Given the description of an element on the screen output the (x, y) to click on. 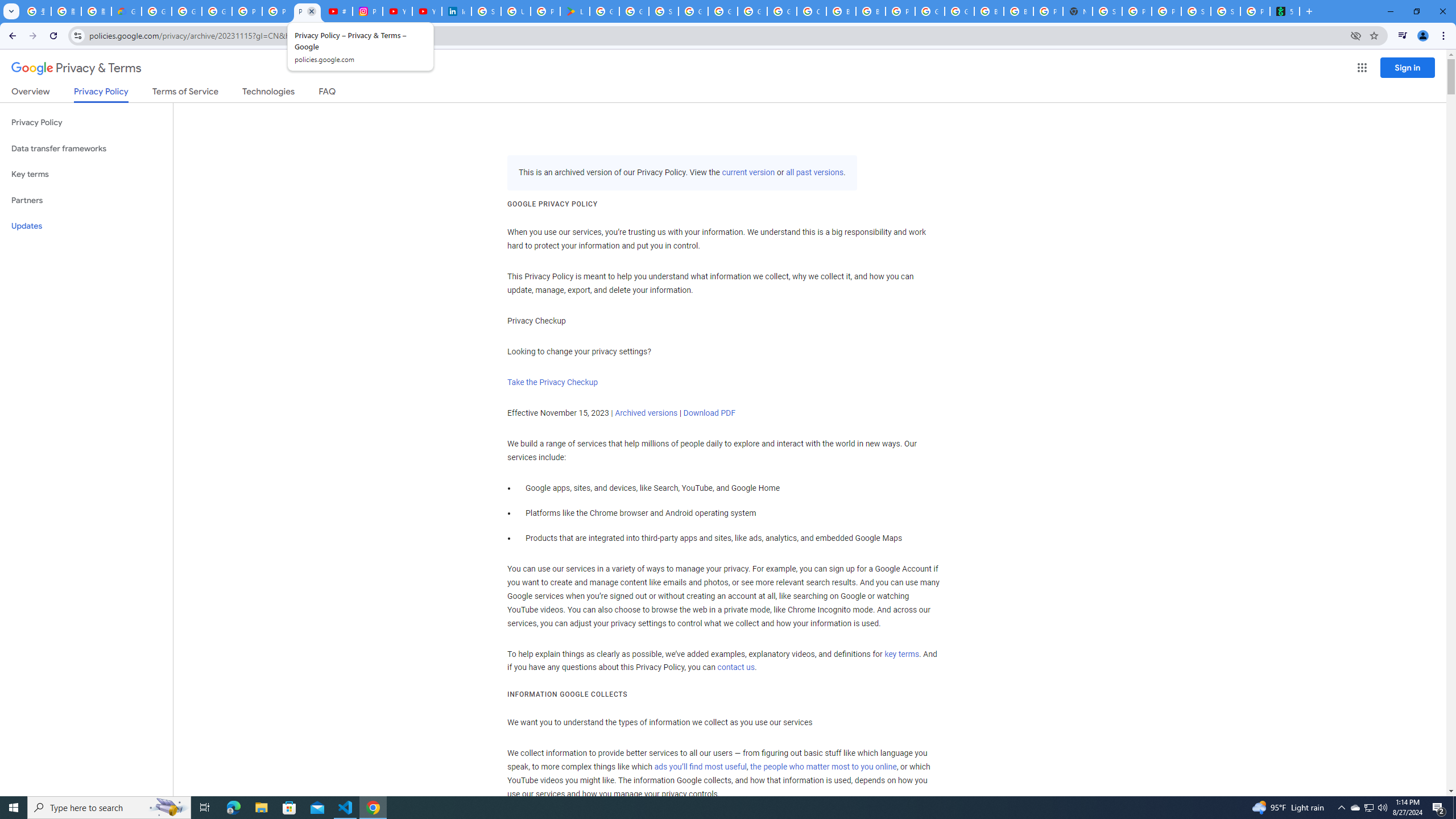
all past versions (813, 172)
#nbabasketballhighlights - YouTube (337, 11)
